Given the description of an element on the screen output the (x, y) to click on. 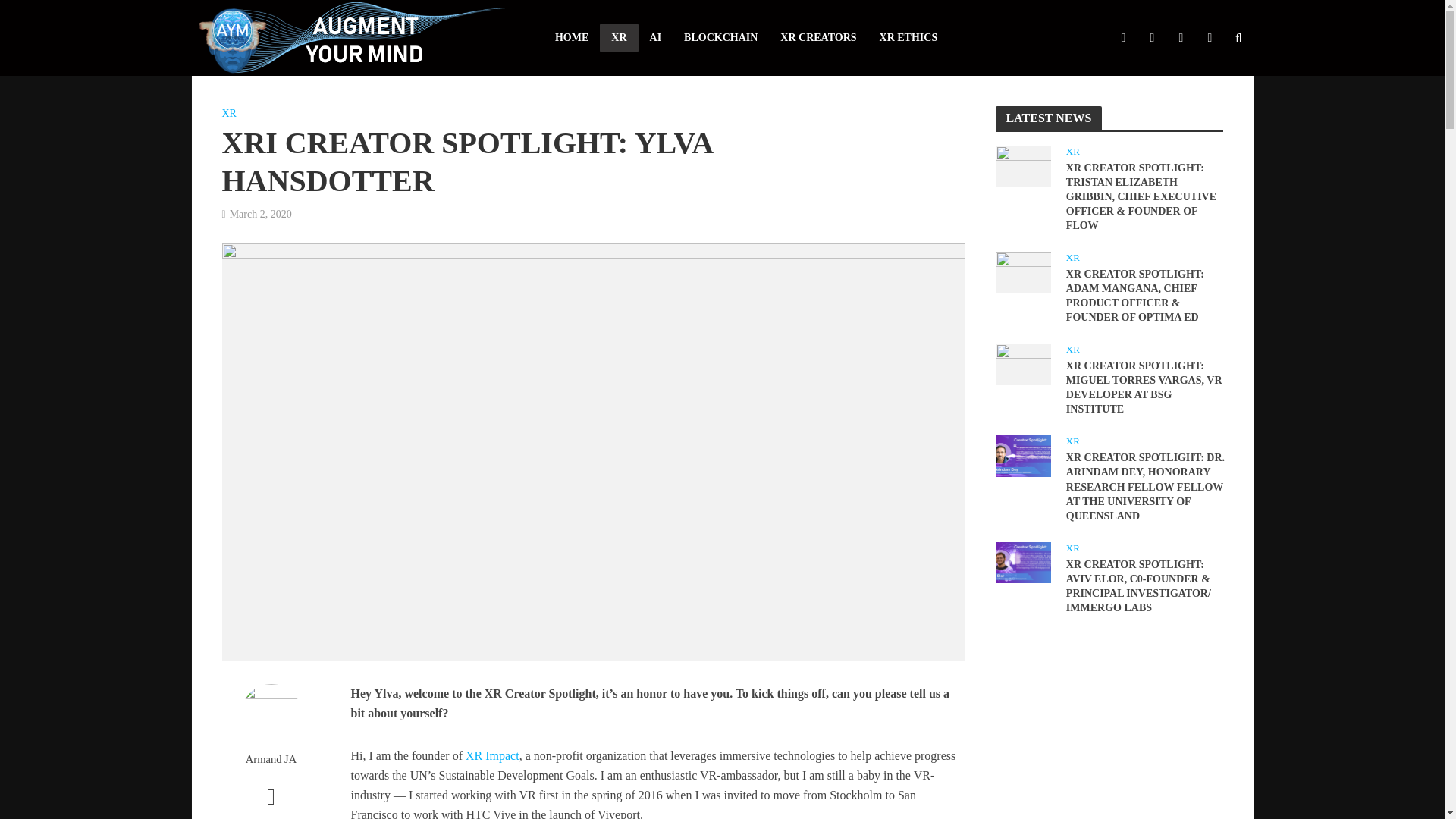
AI (655, 37)
BLOCKCHAIN (720, 37)
XR ETHICS (908, 37)
XR CREATORS (817, 37)
HOME (571, 37)
XR (618, 37)
XR Impact (492, 756)
Add Comment (270, 804)
